Given the description of an element on the screen output the (x, y) to click on. 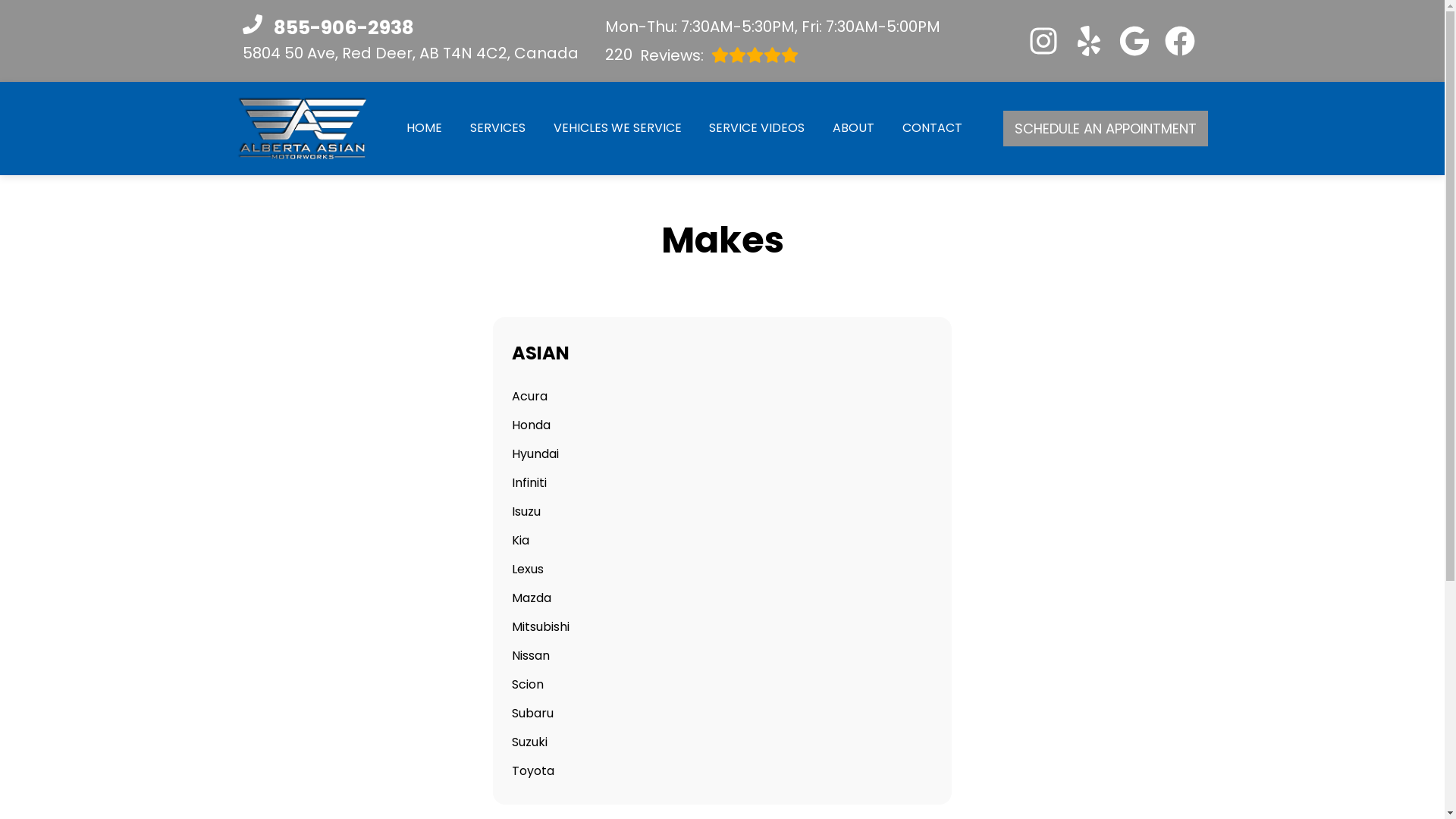
Call Alberta Asian Motorworks (410, 27)
Instagram URL (1042, 40)
HOME (424, 127)
Google My Business URL (1134, 40)
Home (424, 127)
Our Reviews (772, 54)
Yelp URL (1088, 40)
855-906-2938 (410, 27)
Facebook URL (1179, 40)
SERVICES (497, 127)
Alberta Asian Motorworks (300, 128)
Services (772, 54)
5804 50 Ave, Red Deer, AB T4N 4C2, Canada (497, 127)
